Given the description of an element on the screen output the (x, y) to click on. 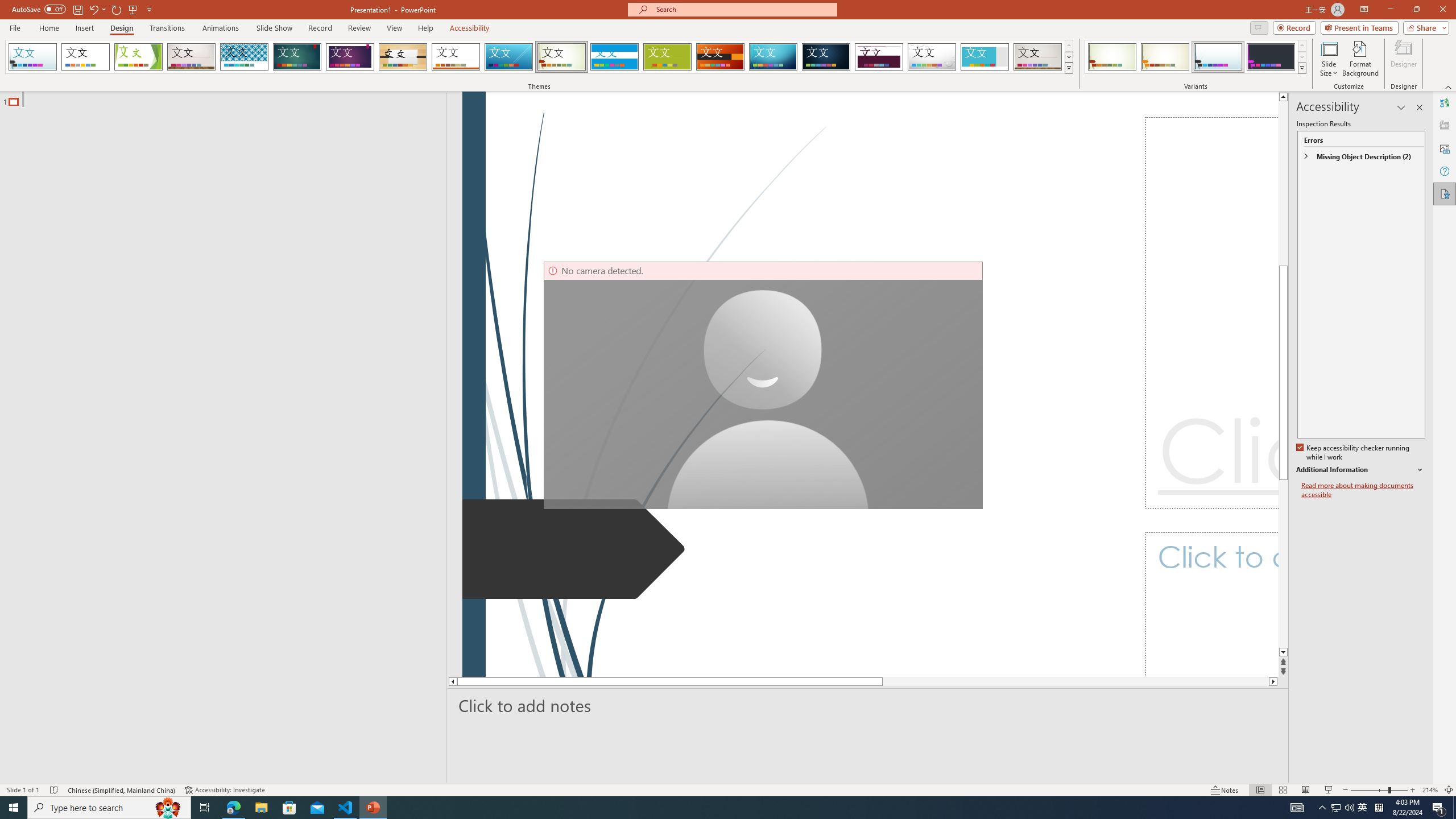
AutomationID: ThemeVariantsGallery (1195, 56)
Page up (1283, 266)
